Given the description of an element on the screen output the (x, y) to click on. 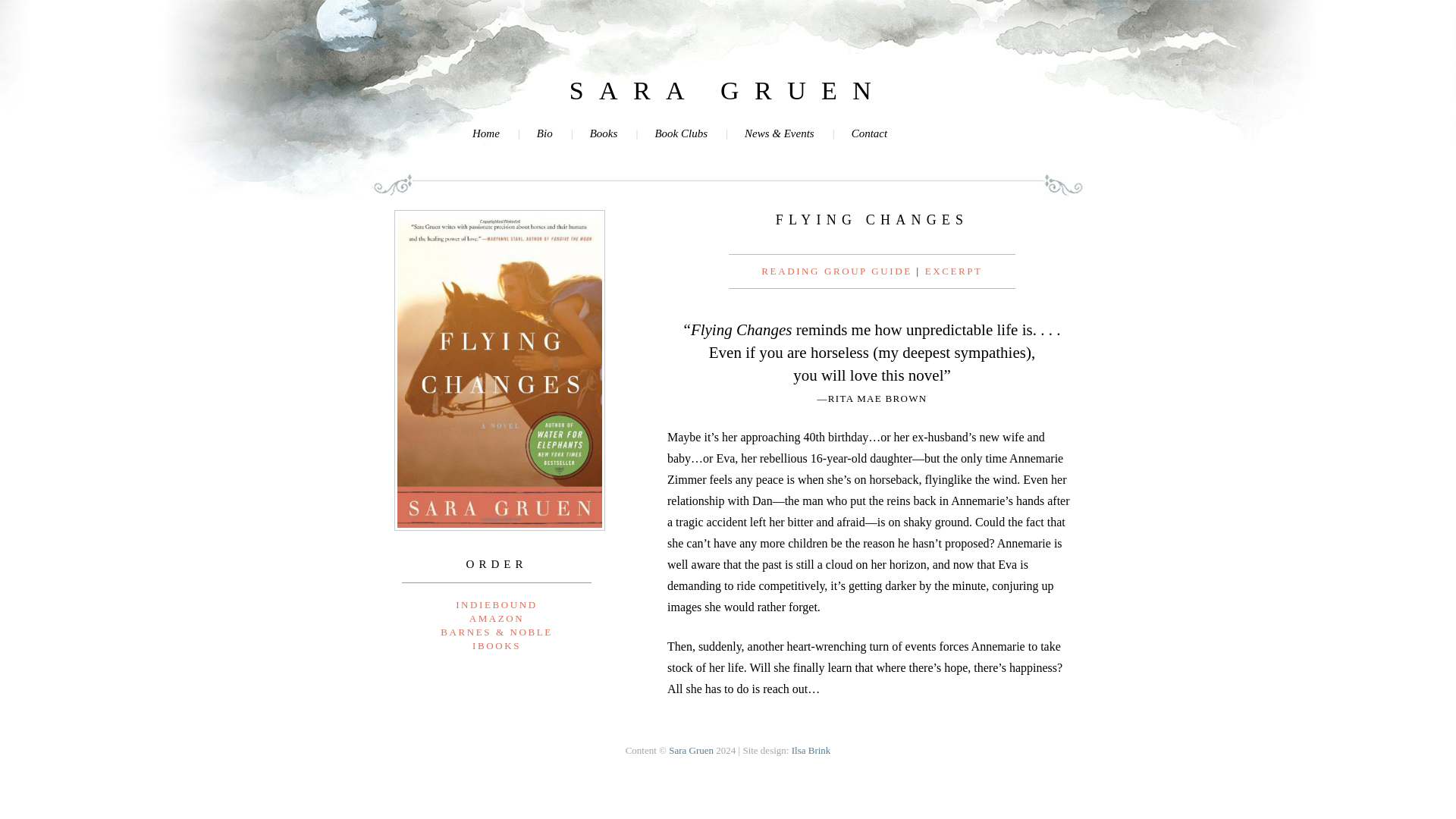
Bio (526, 133)
AMAZON (496, 618)
EXCERPT (953, 270)
INDIEBOUND (496, 604)
SARA GRUEN (727, 98)
Book Clubs (662, 133)
Contact (851, 133)
Books (585, 133)
Sara Gruen (727, 98)
READING GROUP GUIDE (838, 270)
Home (485, 133)
IBOOKS (496, 645)
